Given the description of an element on the screen output the (x, y) to click on. 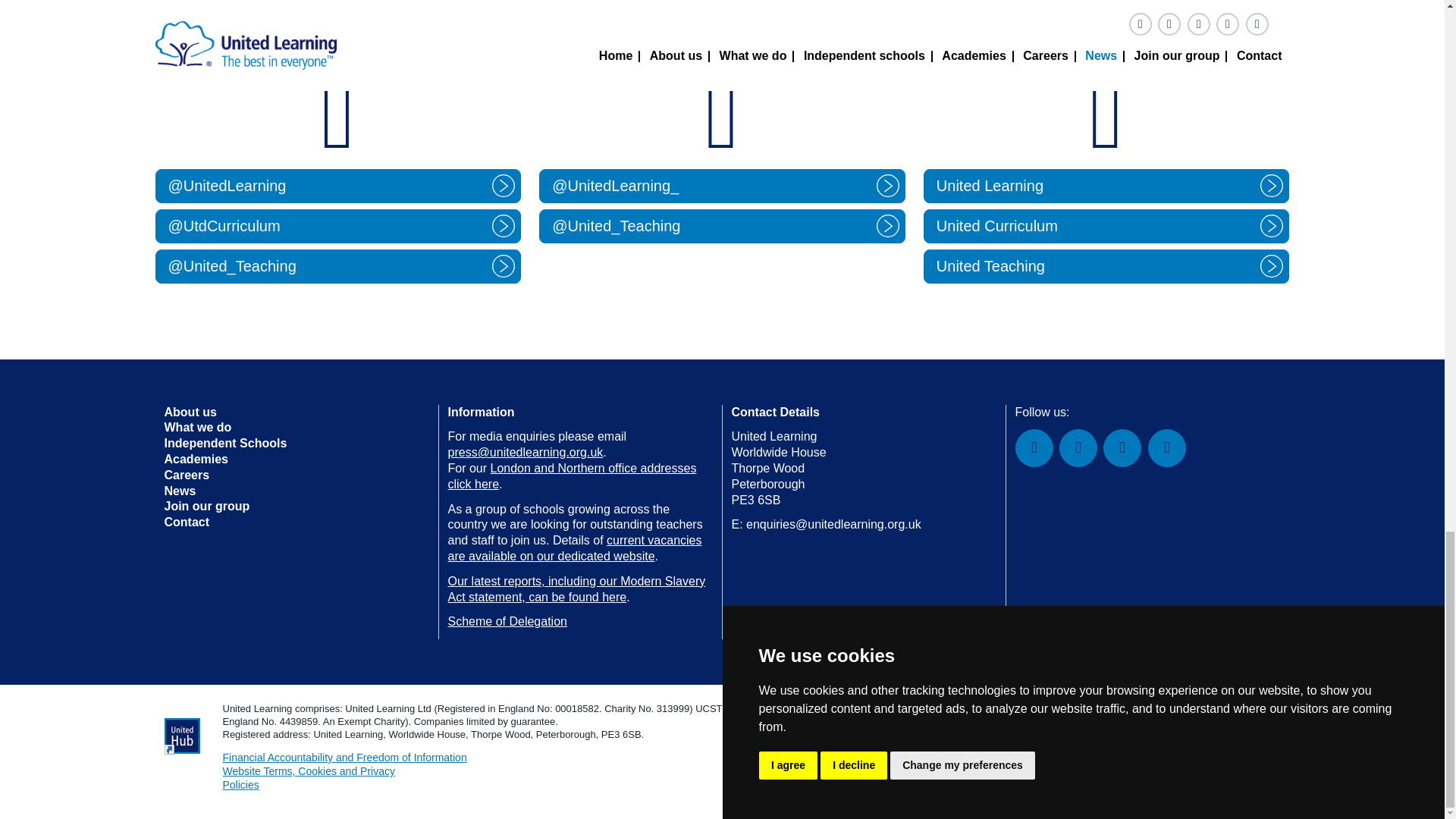
Twitter (1078, 447)
LinkedIn (1122, 447)
United Learning Careers (573, 547)
YouTube (1167, 447)
Facebook (1033, 447)
